Given the description of an element on the screen output the (x, y) to click on. 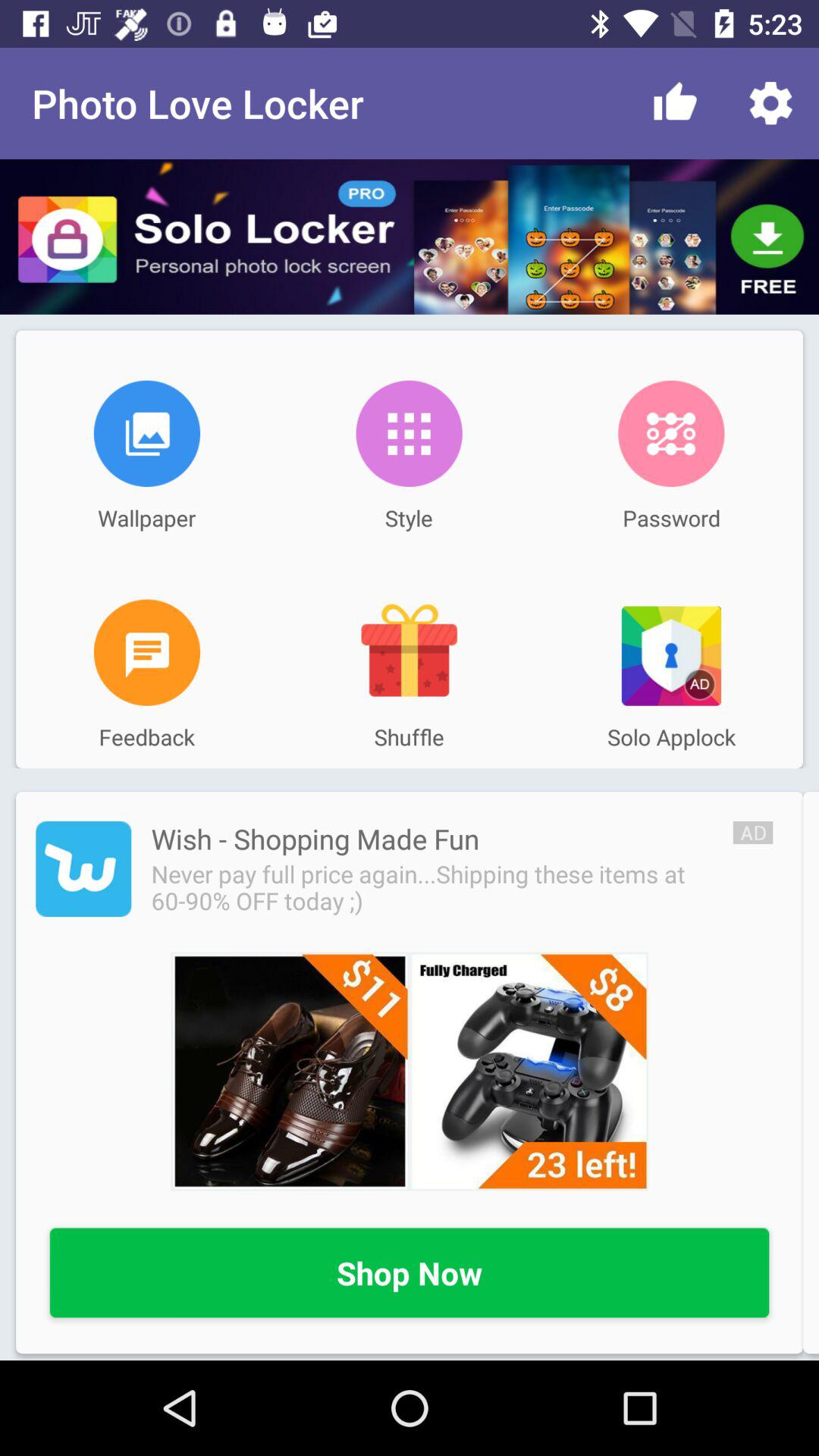
select wallpaper (146, 433)
